Given the description of an element on the screen output the (x, y) to click on. 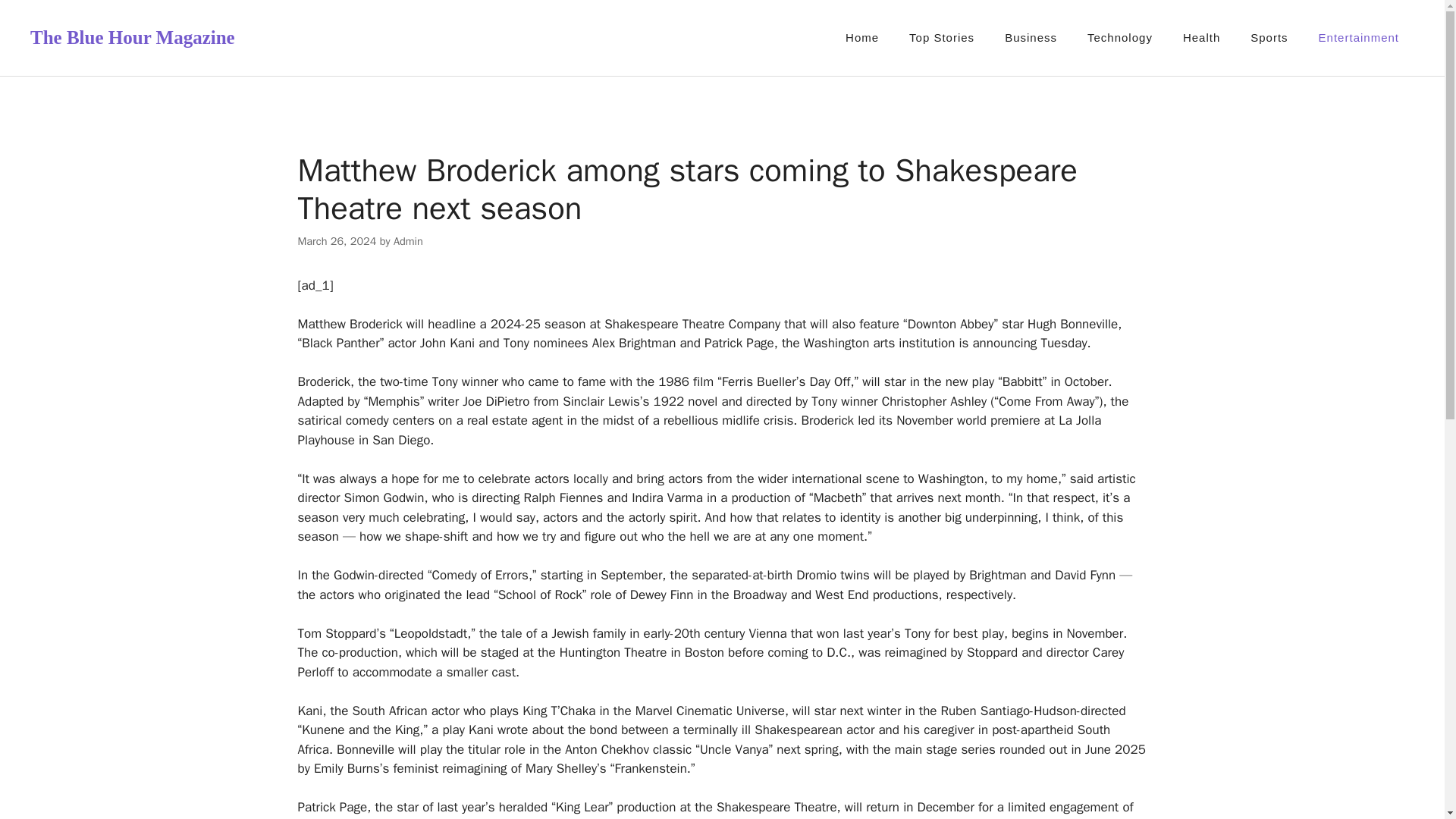
Sports (1268, 37)
View all posts by Admin (408, 241)
Home (861, 37)
Business (1030, 37)
Top Stories (941, 37)
Admin (408, 241)
Technology (1119, 37)
The Blue Hour Magazine (132, 37)
Entertainment (1358, 37)
Health (1200, 37)
